Given the description of an element on the screen output the (x, y) to click on. 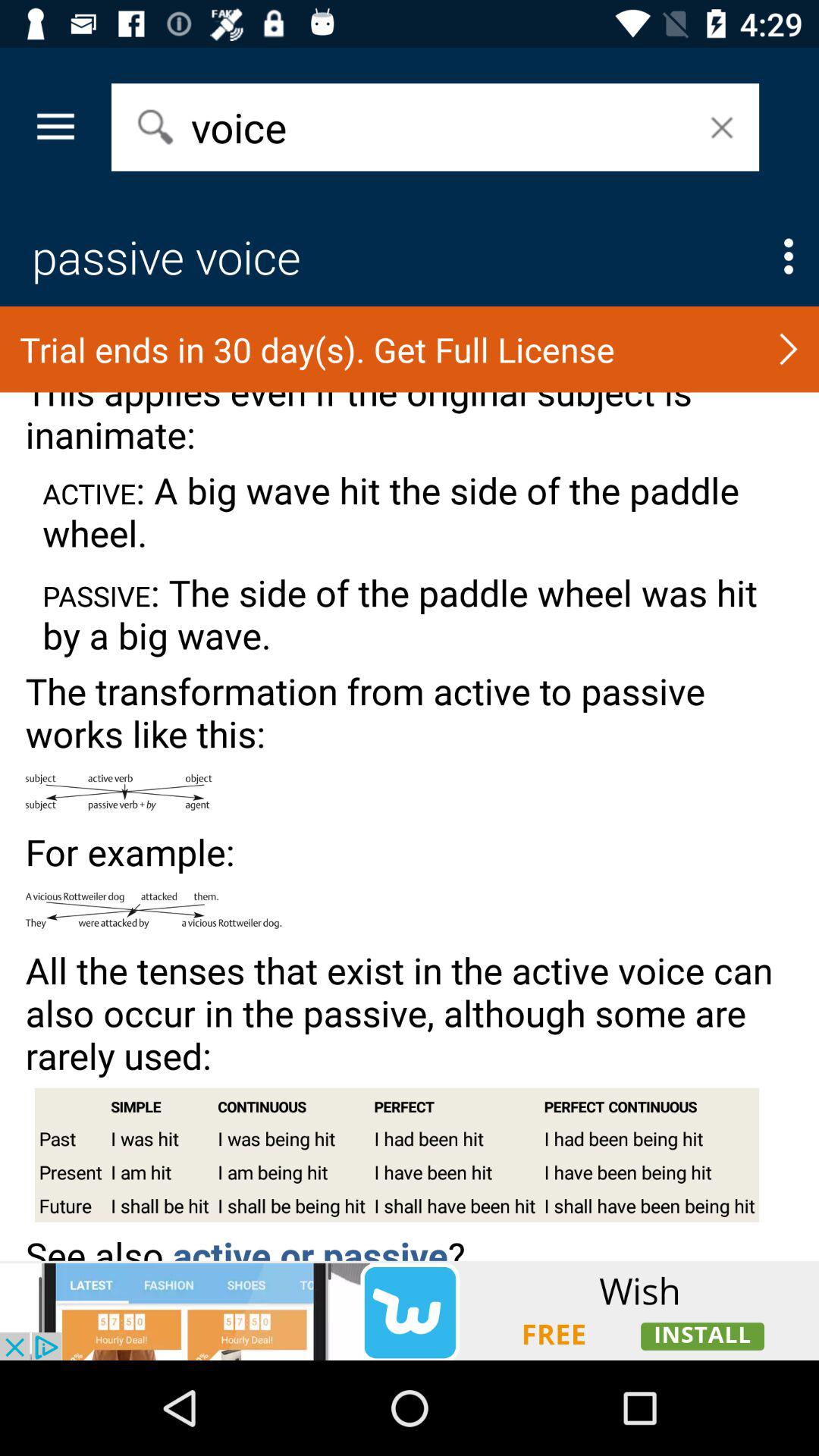
go to add link (409, 1310)
